Given the description of an element on the screen output the (x, y) to click on. 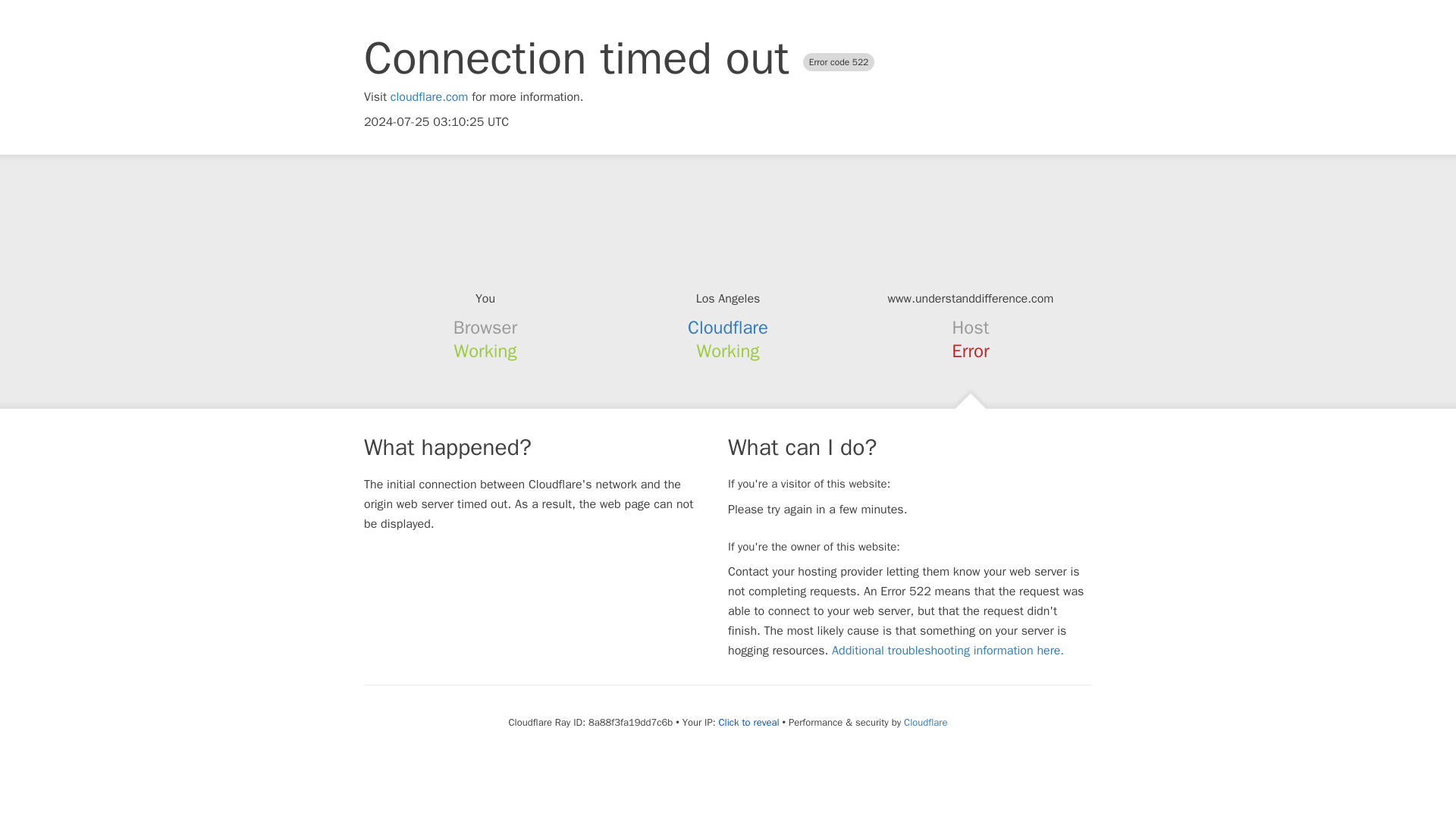
Cloudflare (727, 327)
Click to reveal (748, 722)
cloudflare.com (429, 96)
Cloudflare (925, 721)
Additional troubleshooting information here. (947, 650)
